Given the description of an element on the screen output the (x, y) to click on. 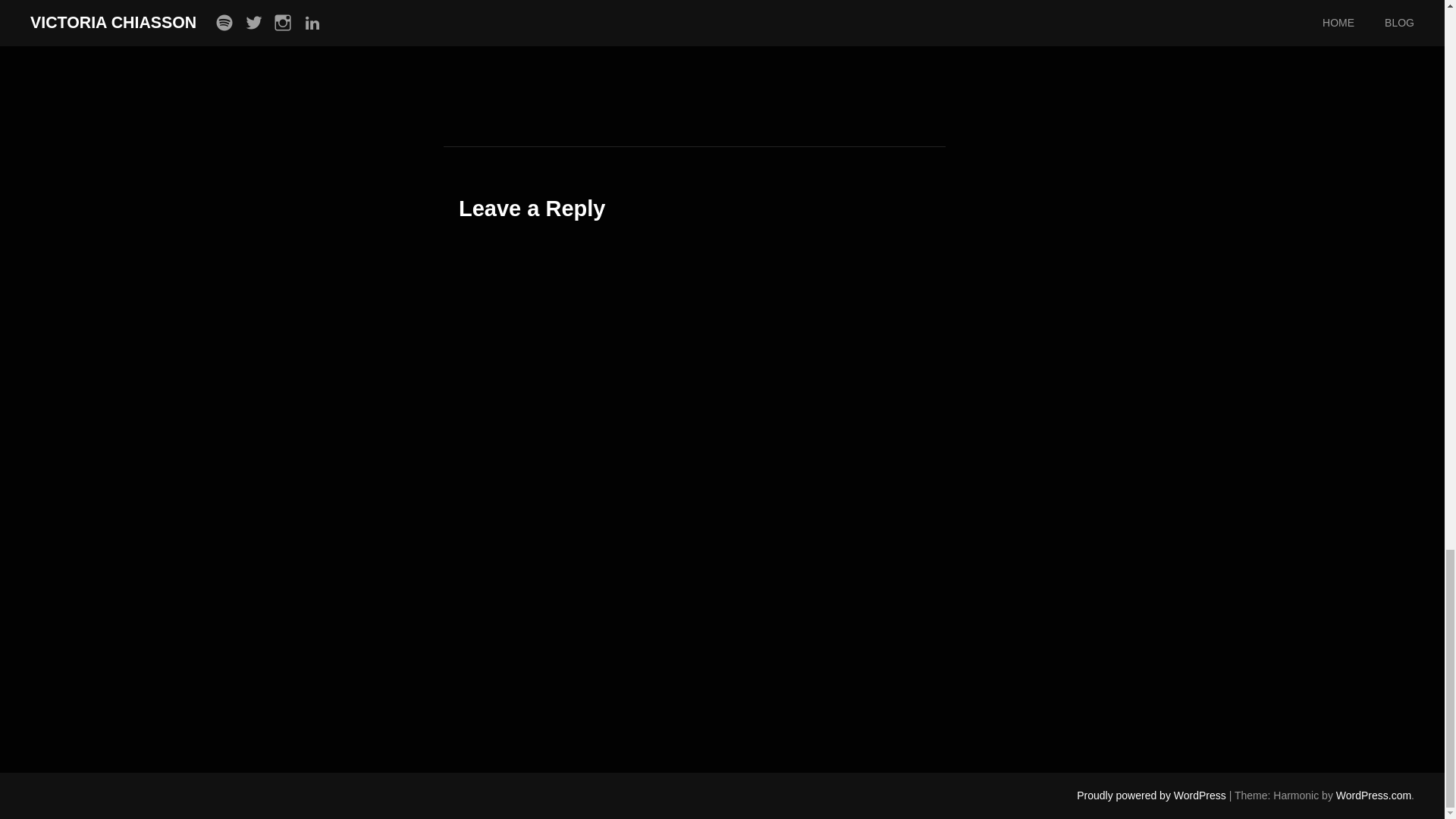
Proudly powered by WordPress (1151, 795)
WordPress.com (1373, 795)
